Given the description of an element on the screen output the (x, y) to click on. 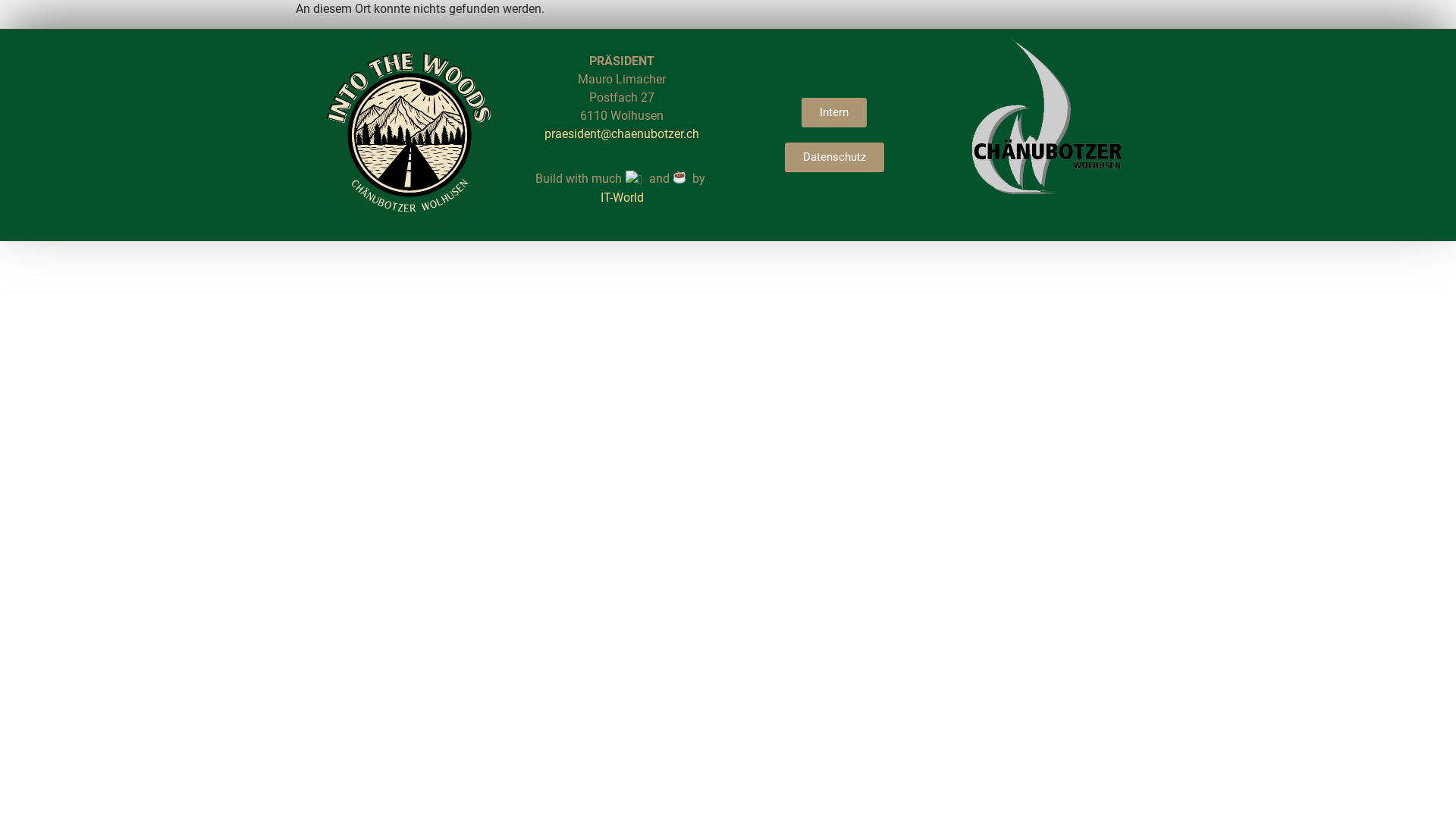
IT-World Element type: text (621, 197)
praesident@chaenubotzer.ch Element type: text (621, 133)
Datenschutz Element type: text (833, 157)
Intern Element type: text (833, 112)
